Given the description of an element on the screen output the (x, y) to click on. 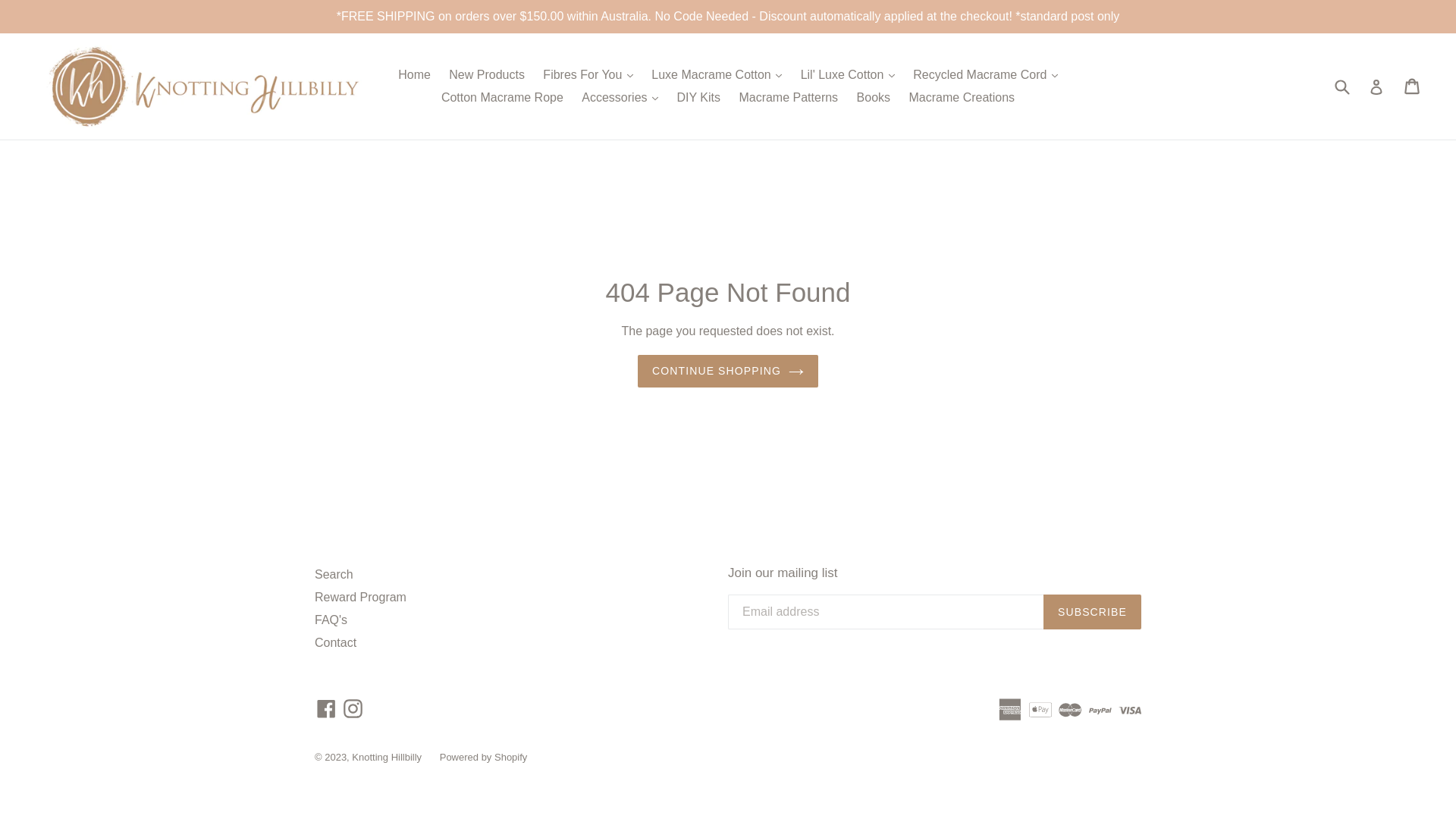
Reward Program Element type: text (360, 596)
FAQ's Element type: text (330, 619)
Log in Element type: text (1375, 86)
CONTINUE SHOPPING Element type: text (727, 370)
Instagram Element type: text (352, 707)
SUBSCRIBE Element type: text (1092, 611)
Books Element type: text (873, 97)
Home Element type: text (414, 74)
Search Element type: text (333, 573)
Knotting Hillbilly Element type: text (387, 756)
Cart
Cart Element type: text (1412, 86)
Contact Element type: text (335, 642)
Macrame Patterns Element type: text (788, 97)
Cotton Macrame Rope Element type: text (502, 97)
DIY Kits Element type: text (698, 97)
New Products Element type: text (486, 74)
Powered by Shopify Element type: text (483, 756)
Macrame Creations Element type: text (961, 97)
Facebook Element type: text (326, 707)
Submit Element type: text (1341, 86)
